Given the description of an element on the screen output the (x, y) to click on. 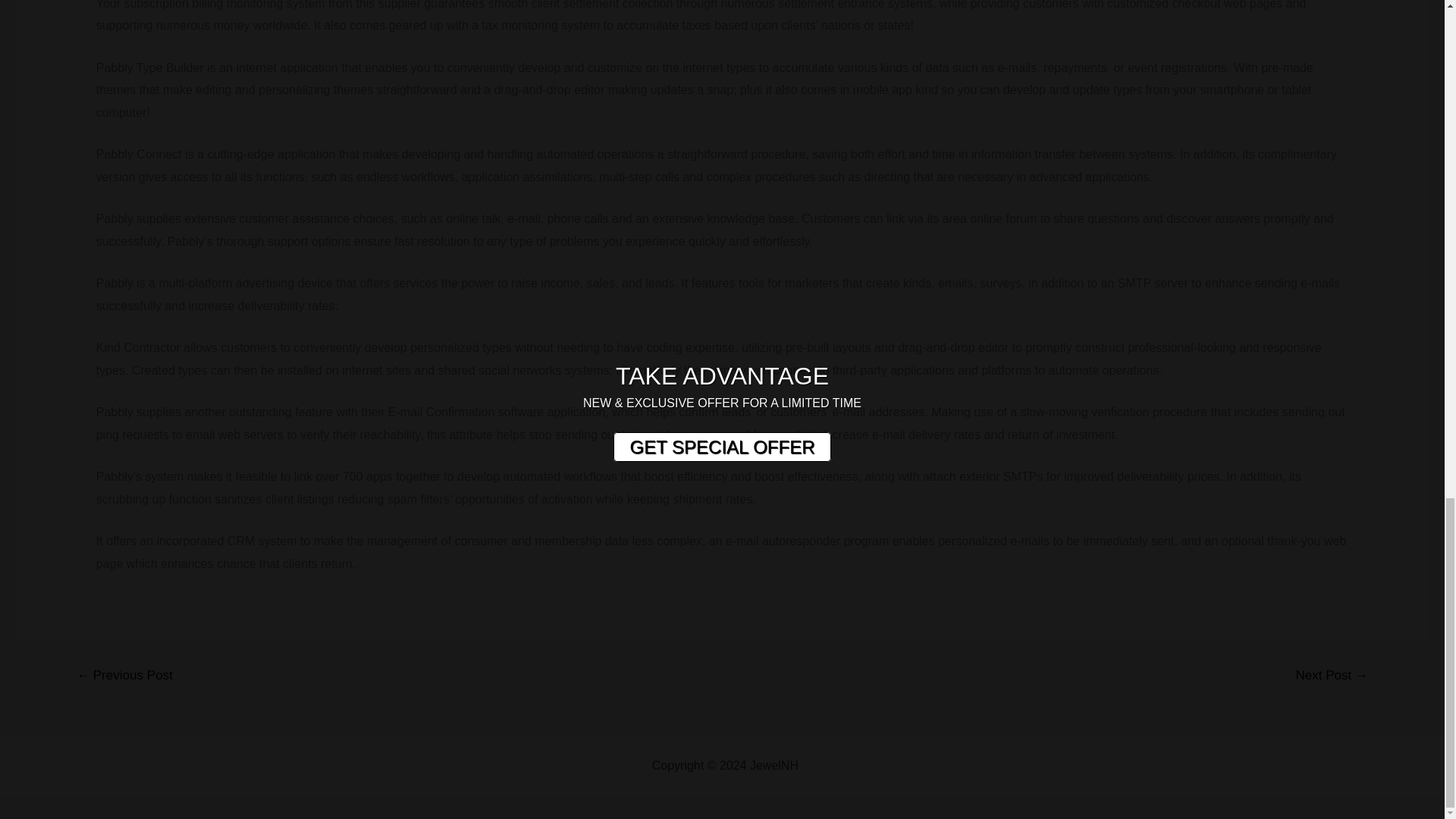
Sitemap (823, 765)
